Given the description of an element on the screen output the (x, y) to click on. 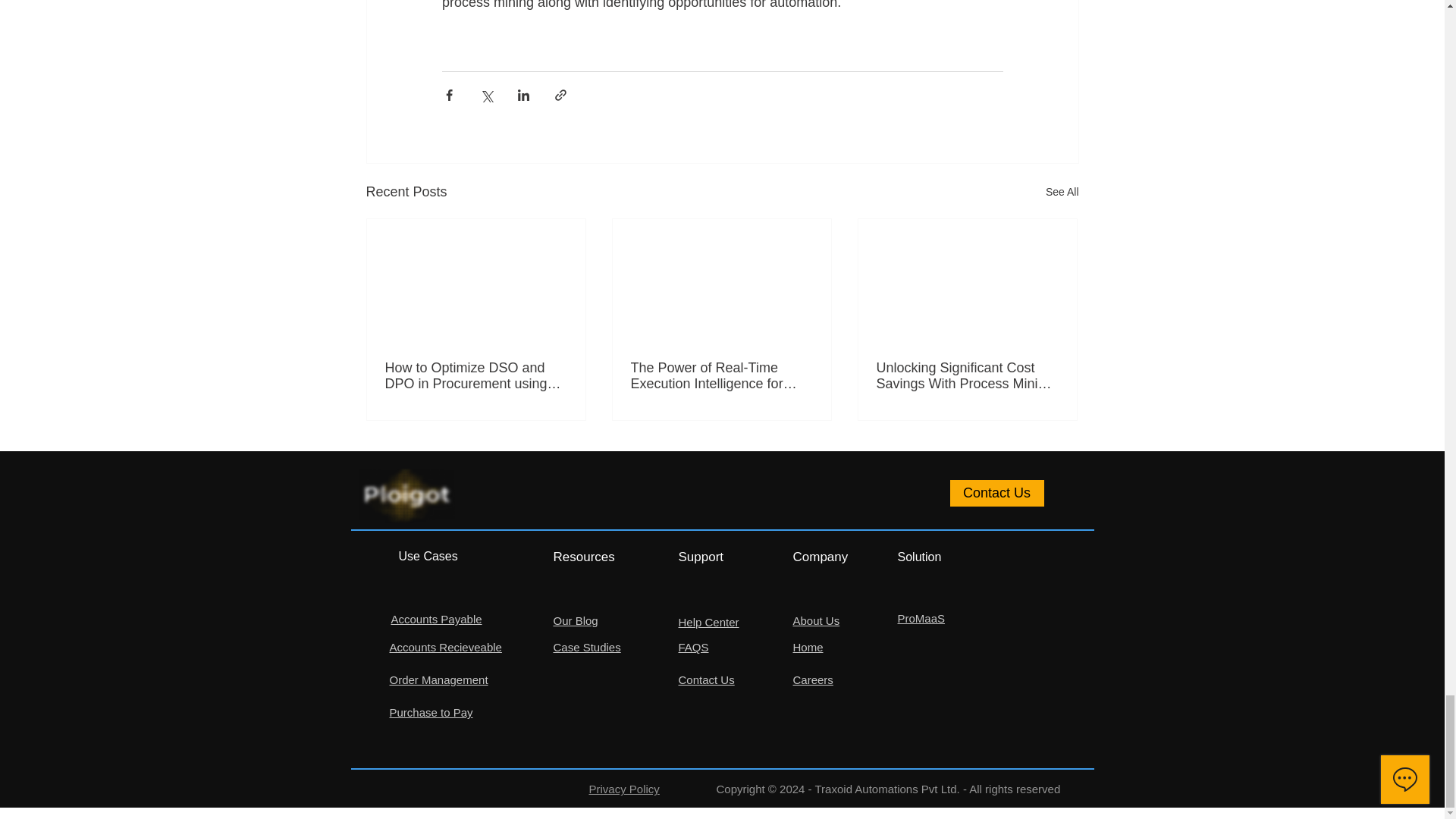
Contact Us (996, 492)
Case Studies (587, 646)
Our Blog (575, 620)
Accounts Payable (436, 618)
See All (1061, 191)
Accounts Recieveable (446, 646)
